Given the description of an element on the screen output the (x, y) to click on. 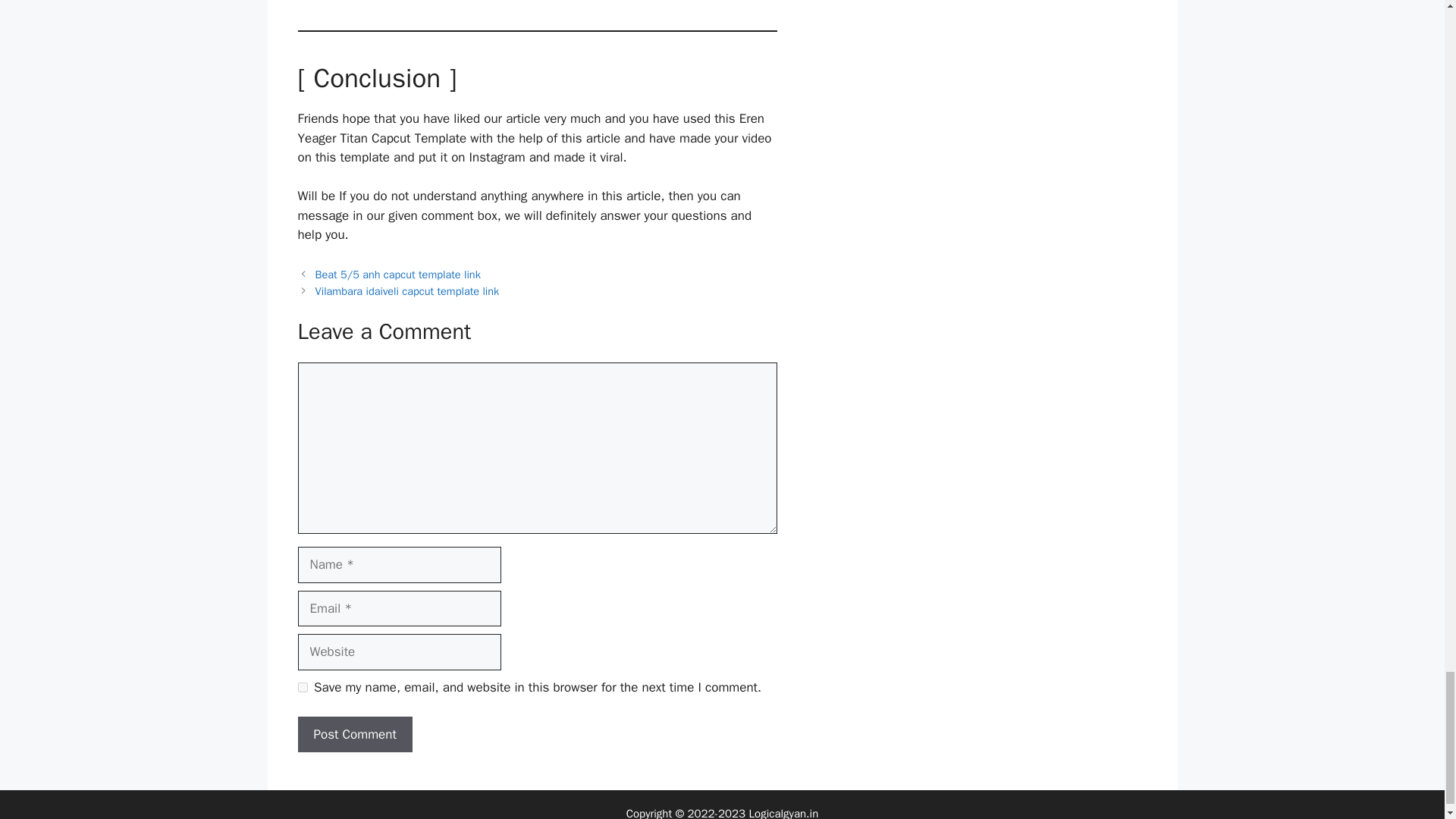
Post Comment (354, 734)
yes (302, 687)
Post Comment (354, 734)
Vilambara idaiveli capcut template link (407, 291)
